Given the description of an element on the screen output the (x, y) to click on. 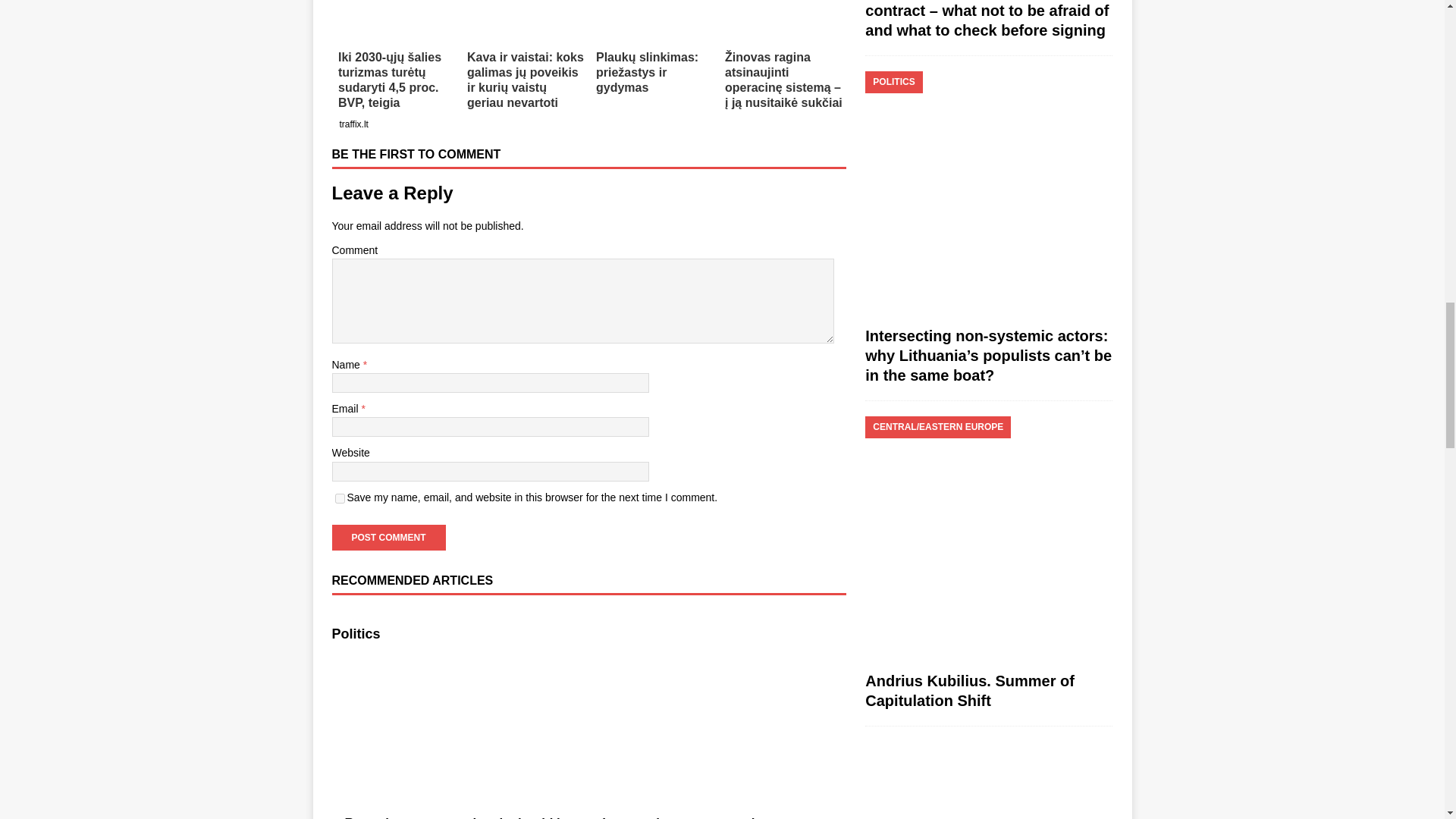
yes (339, 498)
Post Comment (388, 537)
